Given the description of an element on the screen output the (x, y) to click on. 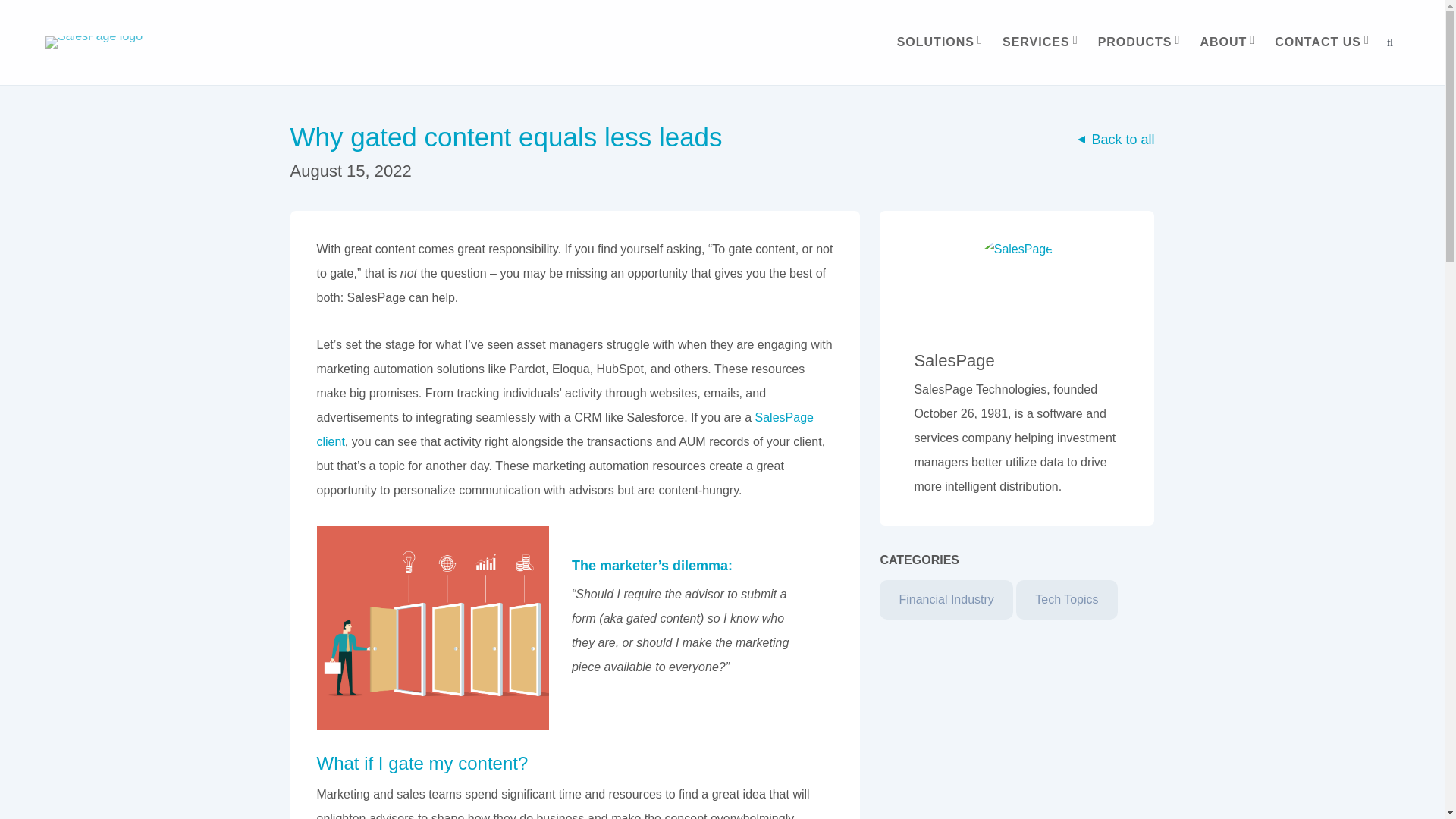
CONTACT US (1318, 42)
SOLUTIONS (936, 42)
Tech Topics (1066, 599)
SalesPage (954, 360)
SalesPage client (565, 429)
Back to all (1115, 139)
Financial Industry (945, 599)
PRODUCTS (1136, 42)
SERVICES (1037, 42)
